Given the description of an element on the screen output the (x, y) to click on. 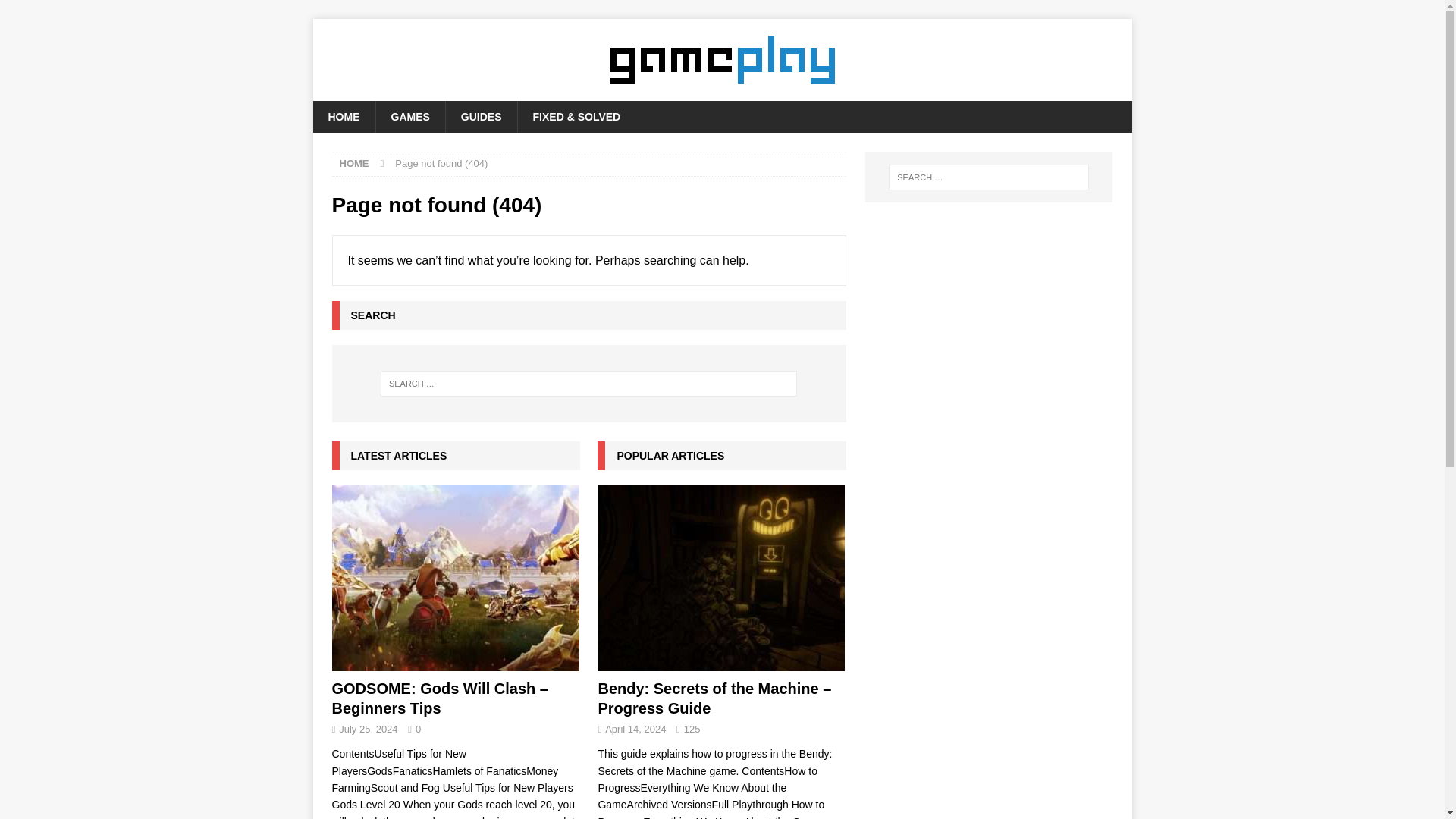
Search (56, 11)
HOME (343, 116)
125 (692, 728)
GUIDES (480, 116)
0 (417, 728)
GAMES (409, 116)
HOME (354, 163)
April 14, 2024 (635, 728)
July 25, 2024 (368, 728)
